Given the description of an element on the screen output the (x, y) to click on. 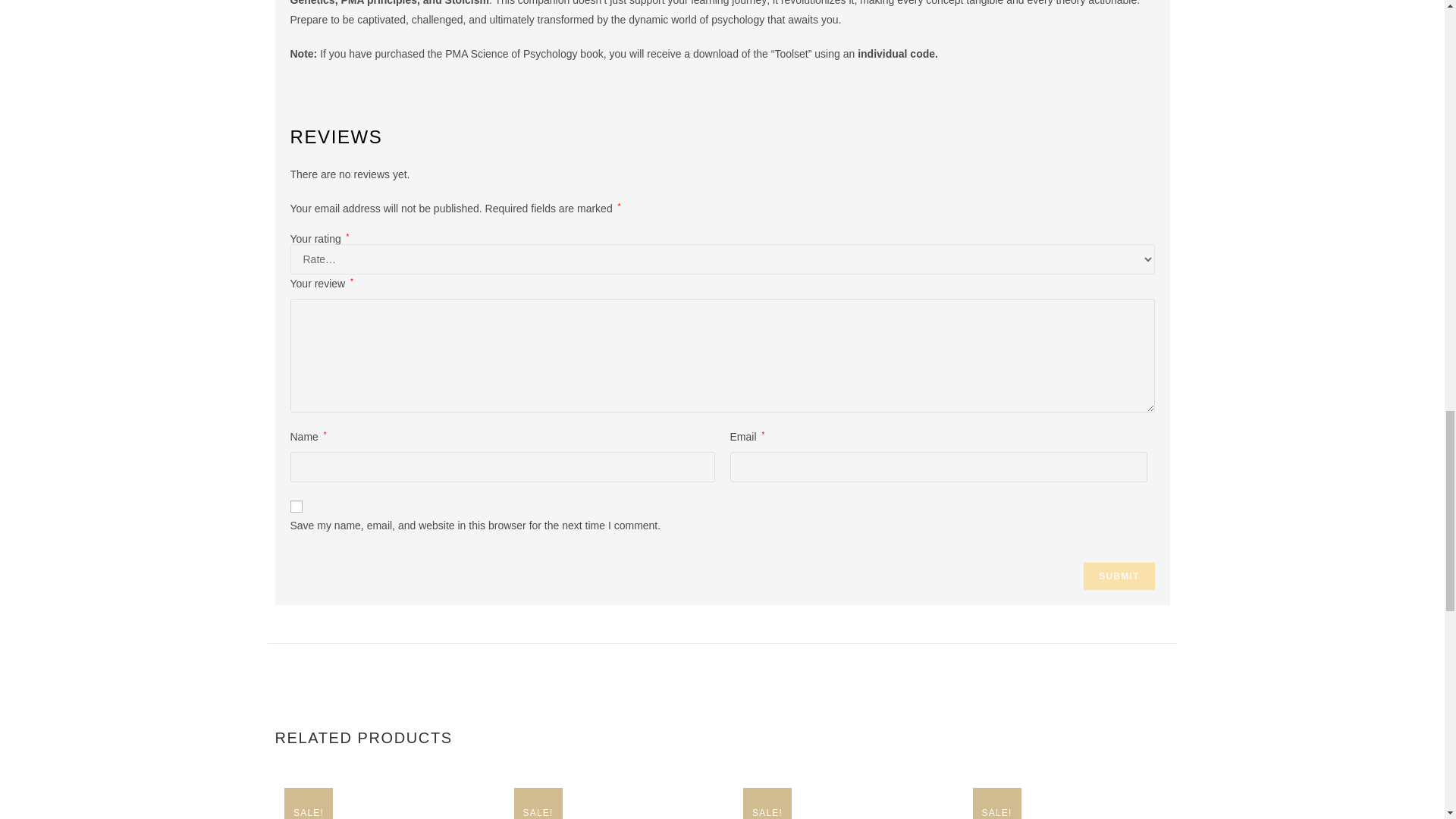
yes (295, 506)
Submit (1118, 575)
